Given the description of an element on the screen output the (x, y) to click on. 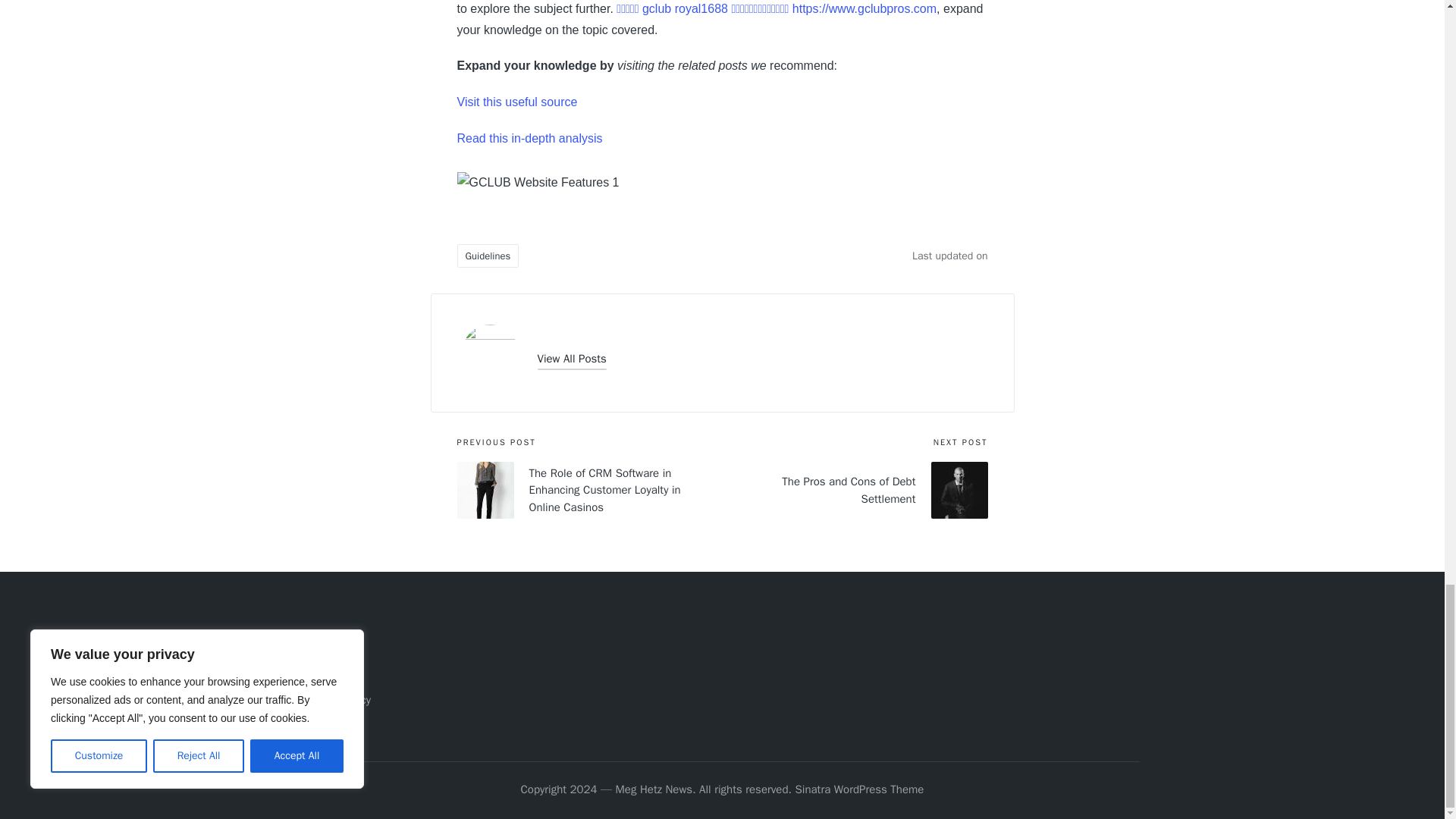
The Pros and Cons of Debt Settlement (854, 489)
View All Posts (571, 358)
Privacy Policy (337, 699)
Read this in-depth analysis (529, 137)
Contact (323, 674)
Guidelines (487, 255)
Sinatra WordPress Theme (859, 790)
Visit this useful source (516, 101)
About (318, 650)
